Given the description of an element on the screen output the (x, y) to click on. 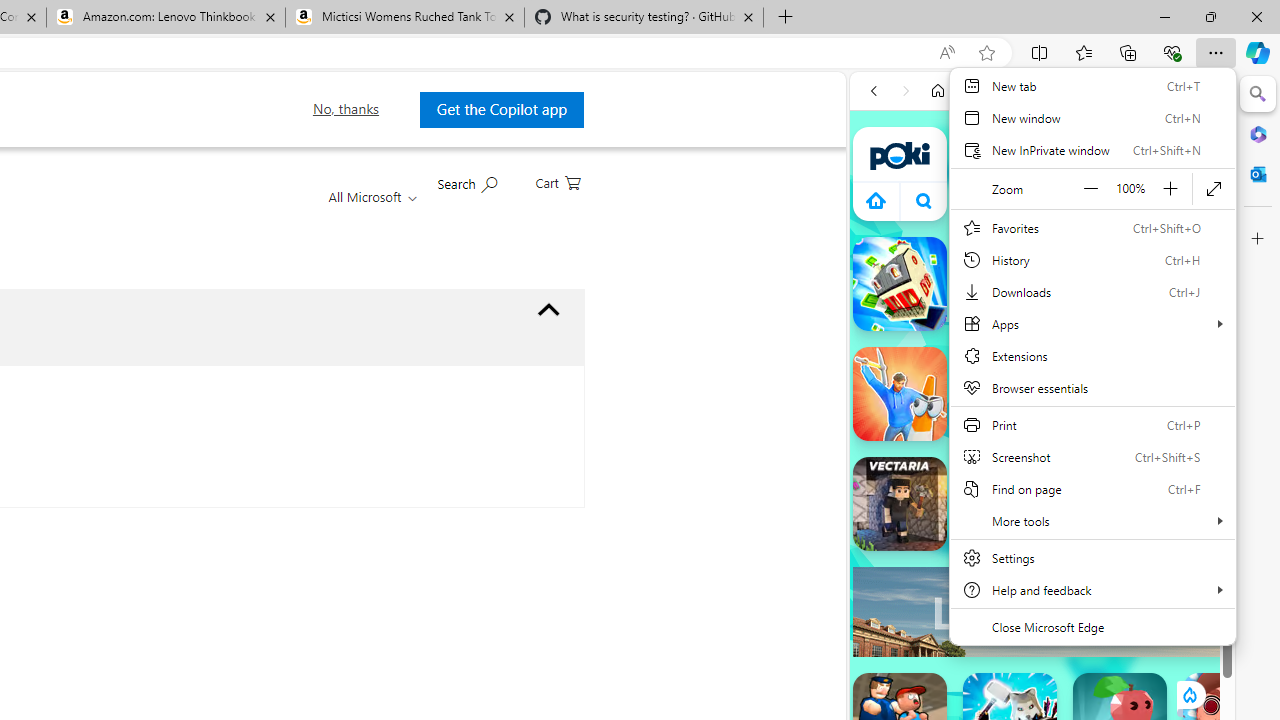
Car Games (1042, 469)
Class: aprWdaSScyiJf4Jvmsx9 (875, 200)
No, thanks (346, 109)
Screenshot (1092, 456)
More tools (1092, 520)
Close Microsoft Edge (1092, 626)
Poki - Free Online Games - Play Now! (1034, 309)
Settings and more (1092, 356)
Apps (1092, 323)
Class: rounded img-fluid d-block w-100 fit-cover (1240, 273)
Get the Copilot app  (501, 109)
